Given the description of an element on the screen output the (x, y) to click on. 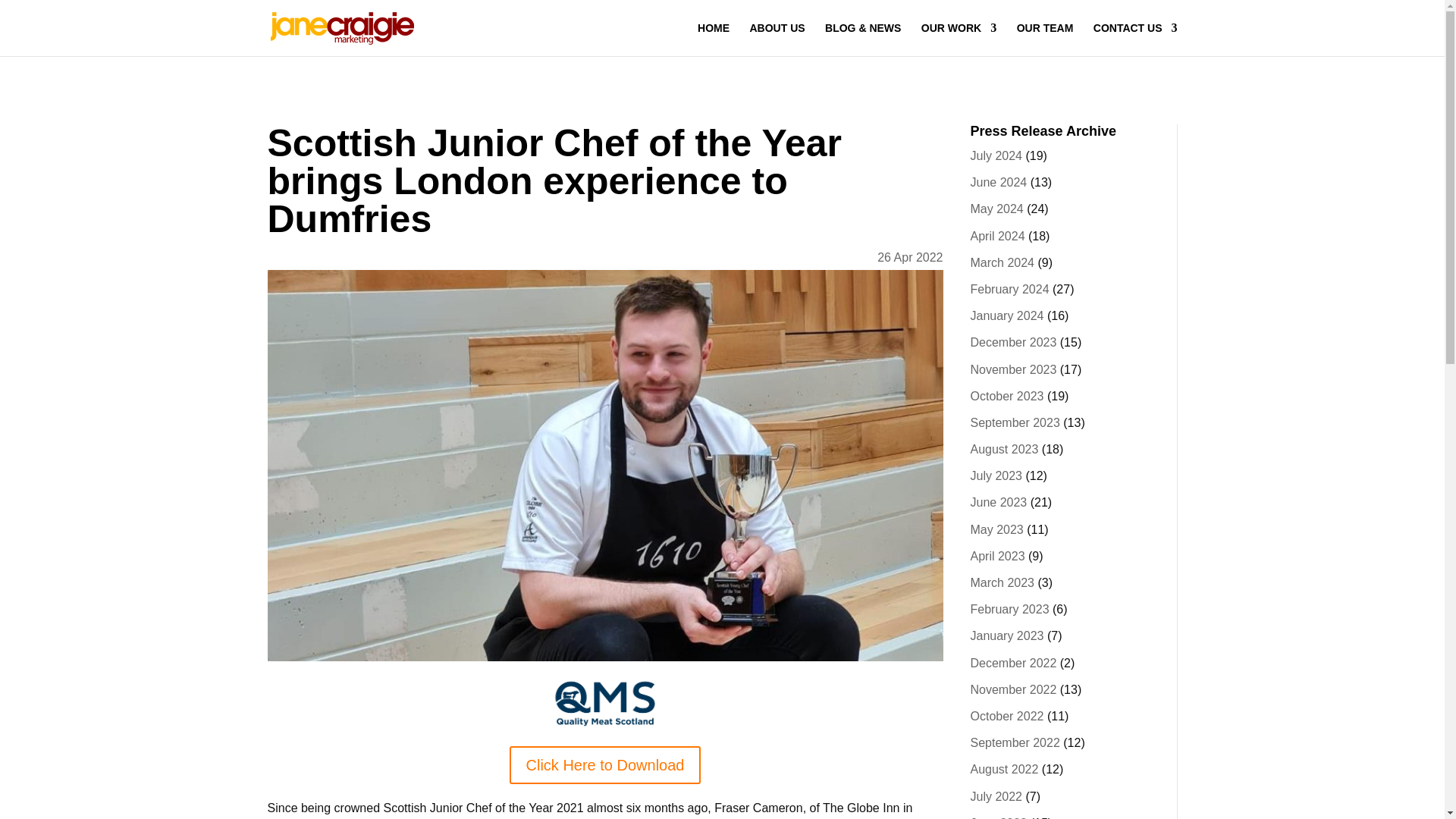
April 2023 (998, 555)
May 2024 (997, 208)
May 2023 (997, 529)
December 2023 (1014, 341)
August 2023 (1005, 449)
April 2024 (998, 236)
ABOUT US (777, 39)
January 2023 (1007, 635)
OUR TEAM (1045, 39)
March 2023 (1003, 582)
March 2024 (1003, 262)
July 2024 (997, 155)
January 2024 (1007, 315)
September 2023 (1015, 422)
